Given the description of an element on the screen output the (x, y) to click on. 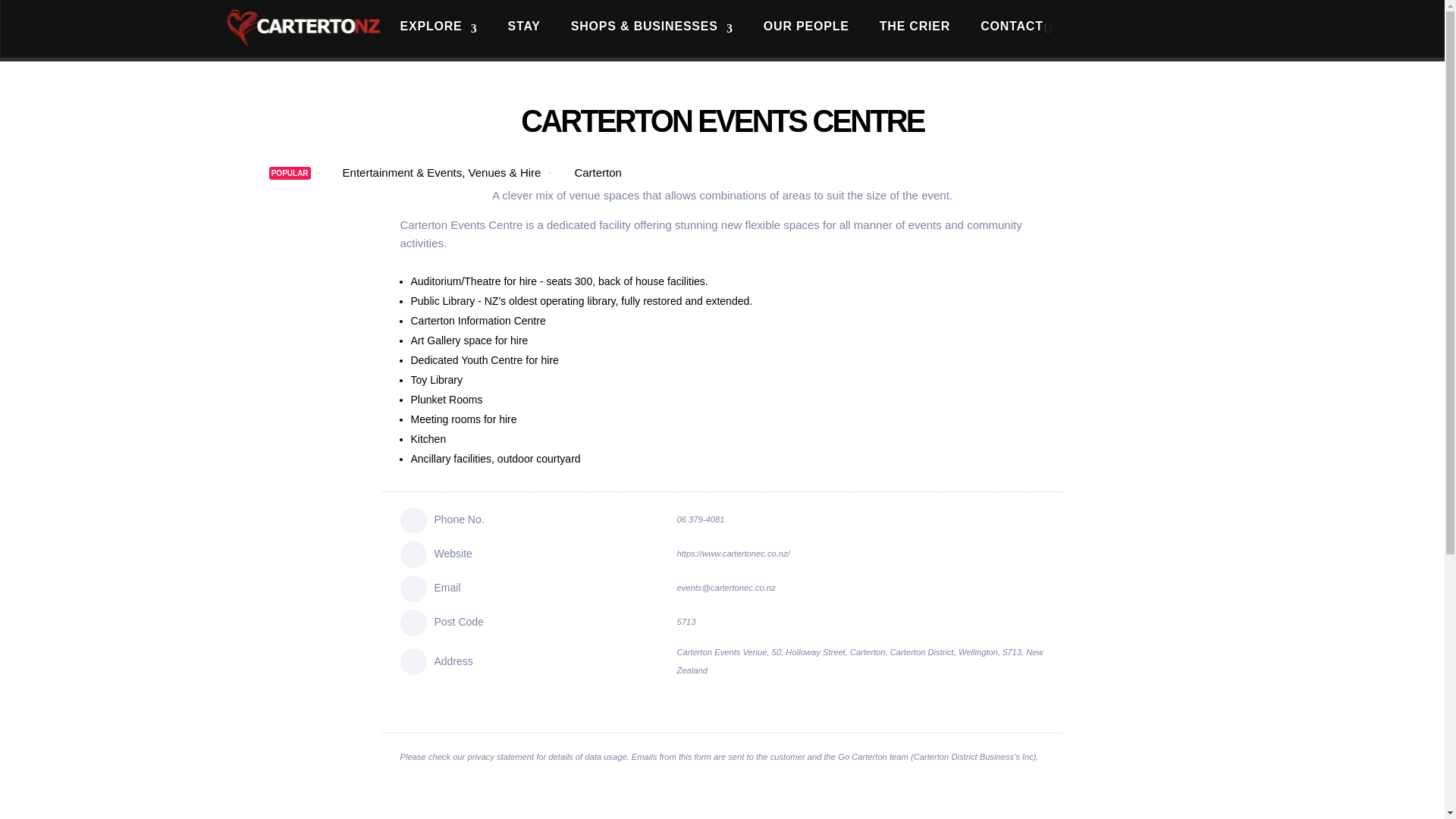
THE CRIER (914, 28)
CONTACT (1011, 28)
EXPLORE (438, 28)
OUR PEOPLE (805, 28)
